Given the description of an element on the screen output the (x, y) to click on. 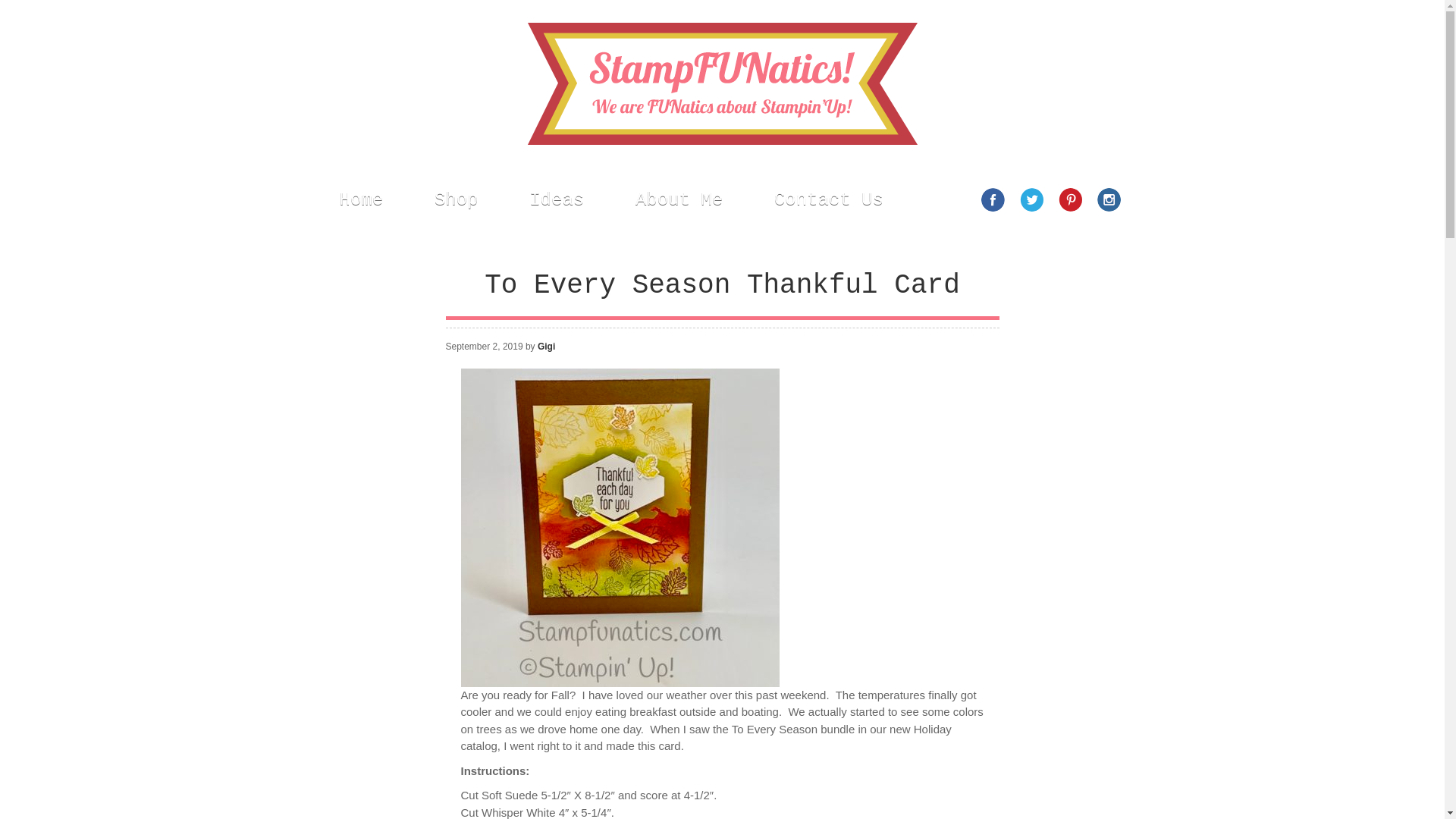
Shop (456, 199)
Contact Us (828, 199)
Ideas (556, 199)
Home (361, 199)
About Me (678, 199)
Gigi (545, 346)
